Given the description of an element on the screen output the (x, y) to click on. 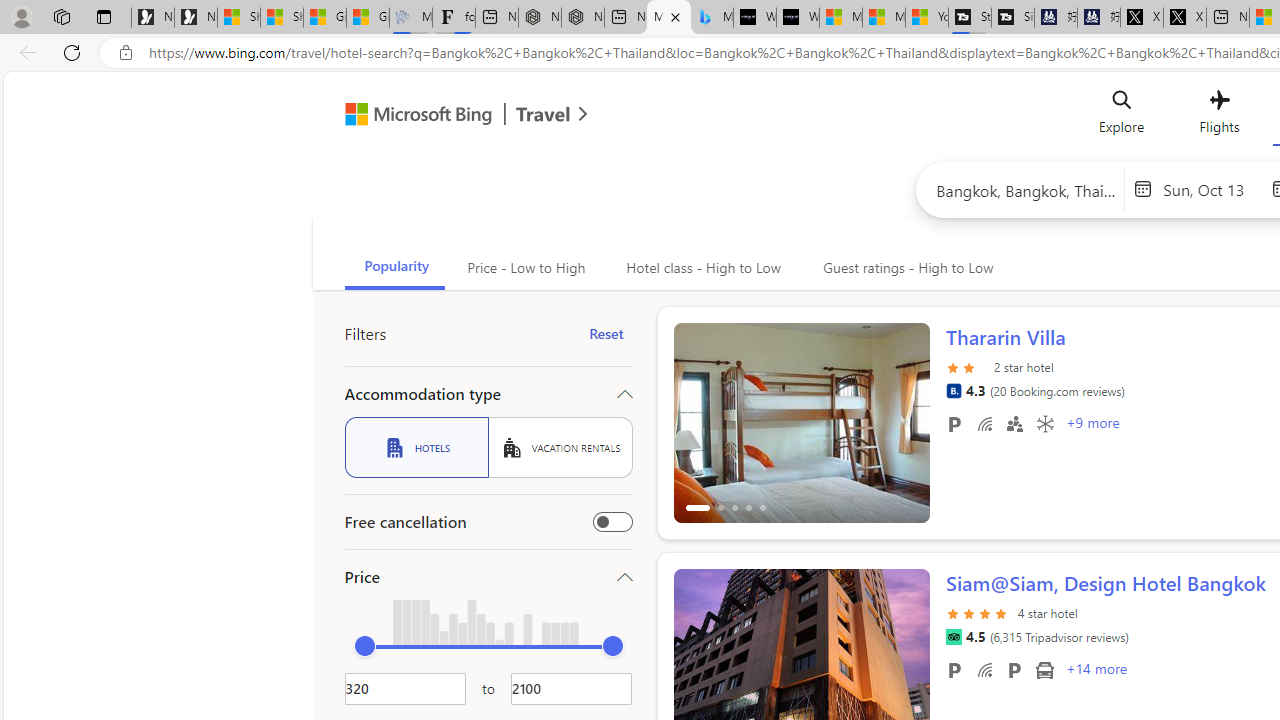
ScrollRight (905, 660)
Free WiFi (984, 669)
Start Date (1212, 188)
Class: msft-bing-logo msft-bing-logo-desktop (413, 114)
Tripadvisor (953, 637)
